Given the description of an element on the screen output the (x, y) to click on. 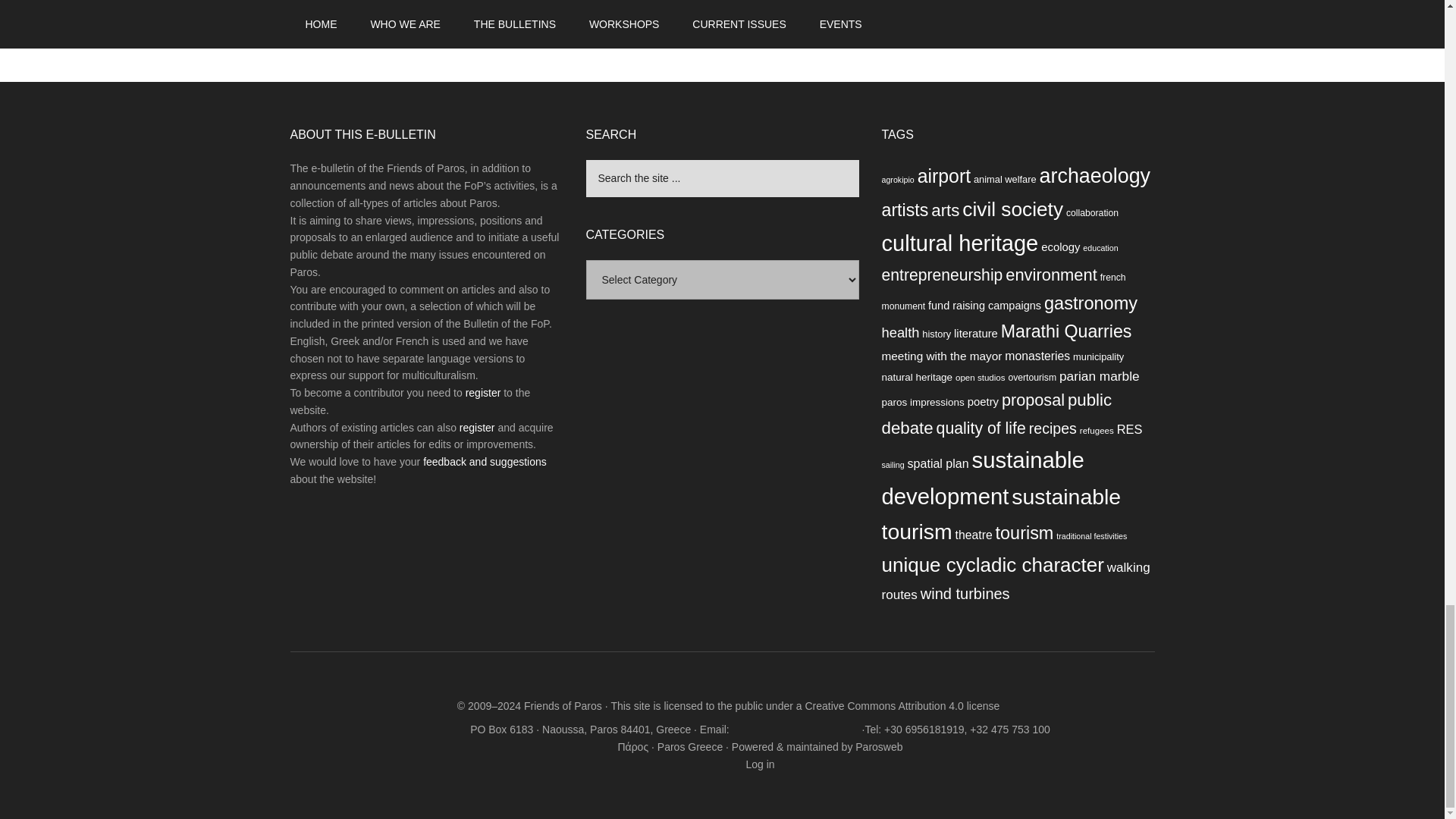
Post Comment (350, 25)
